Given the description of an element on the screen output the (x, y) to click on. 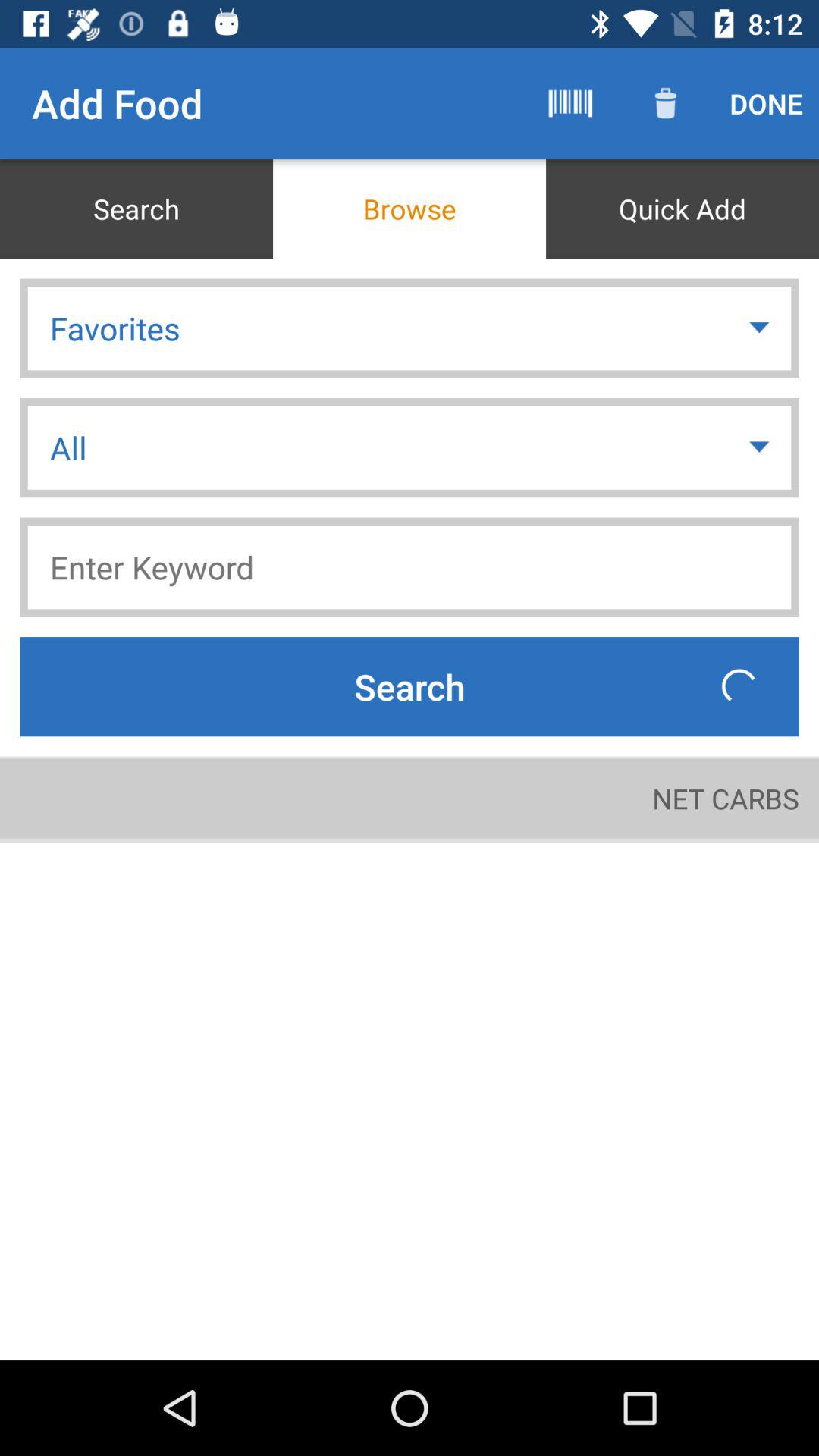
search by keyword (409, 567)
